Given the description of an element on the screen output the (x, y) to click on. 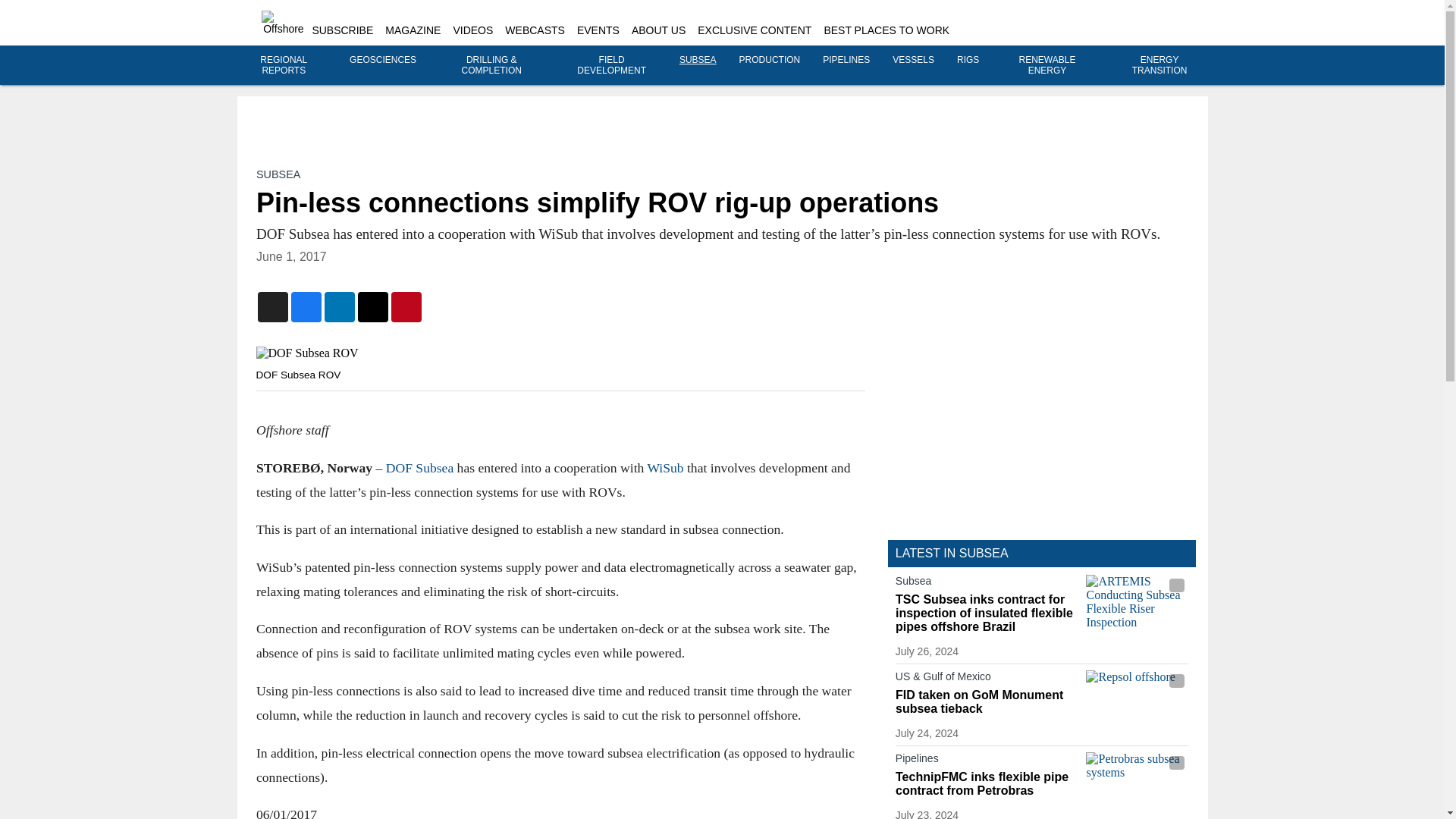
MAGAZINE (413, 30)
EVENTS (598, 30)
ARTEMIS Conducting Subsea Flexible Riser Inspection (1137, 602)
FIELD DEVELOPMENT (611, 65)
ENERGY TRANSITION (1160, 65)
PIPELINES (845, 59)
EXCLUSIVE CONTENT (753, 30)
DOF Subsea (418, 467)
GEOSCIENCES (382, 59)
DOF Subsea ROV (560, 353)
FID taken on GoM Monument subsea tieback (986, 701)
PRODUCTION (769, 59)
TechnipFMC inks flexible pipe contract from Petrobras (986, 783)
SUBSEA (697, 59)
Repsol offshore (1137, 698)
